Given the description of an element on the screen output the (x, y) to click on. 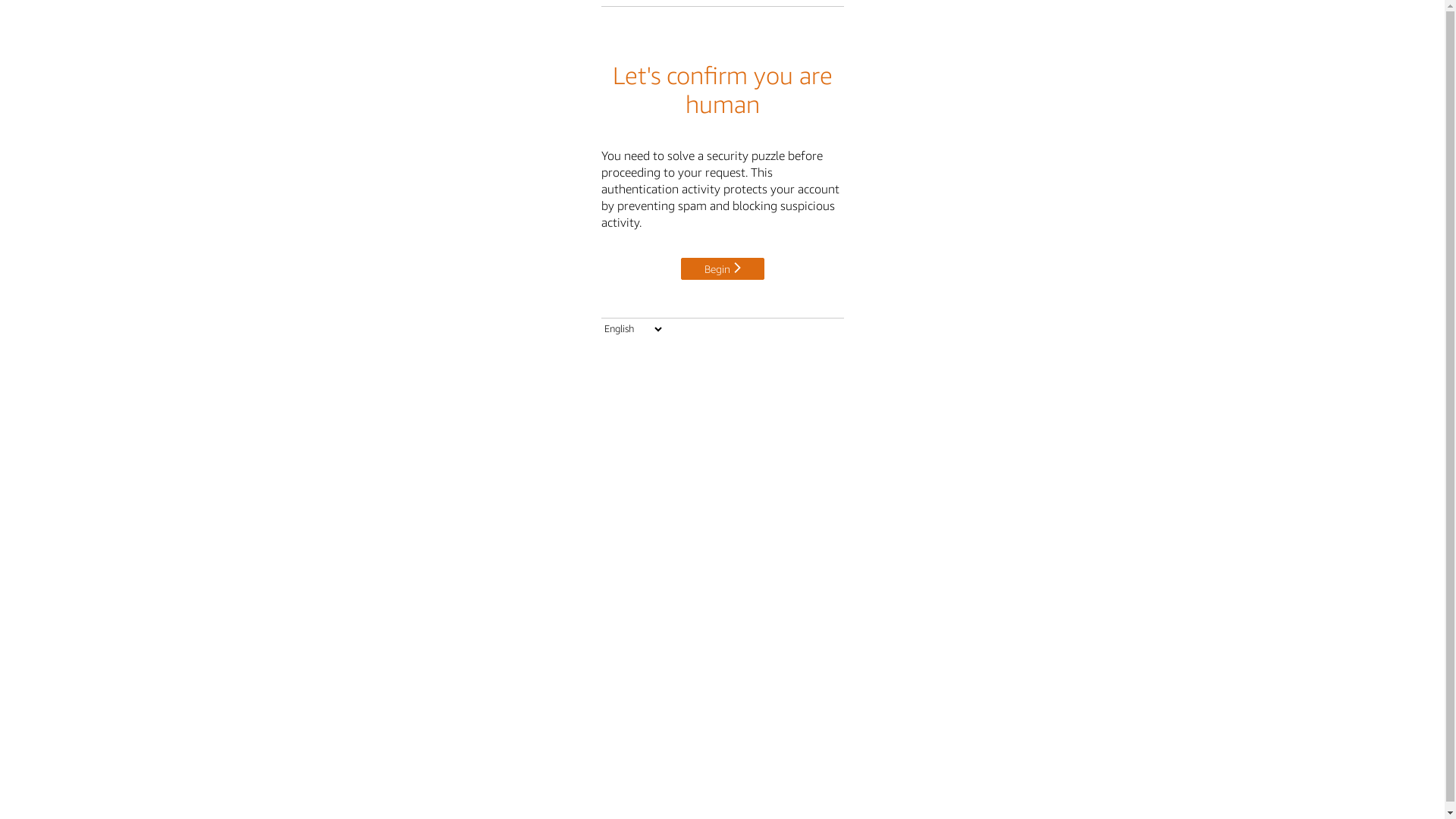
Begin Element type: text (722, 268)
